Given the description of an element on the screen output the (x, y) to click on. 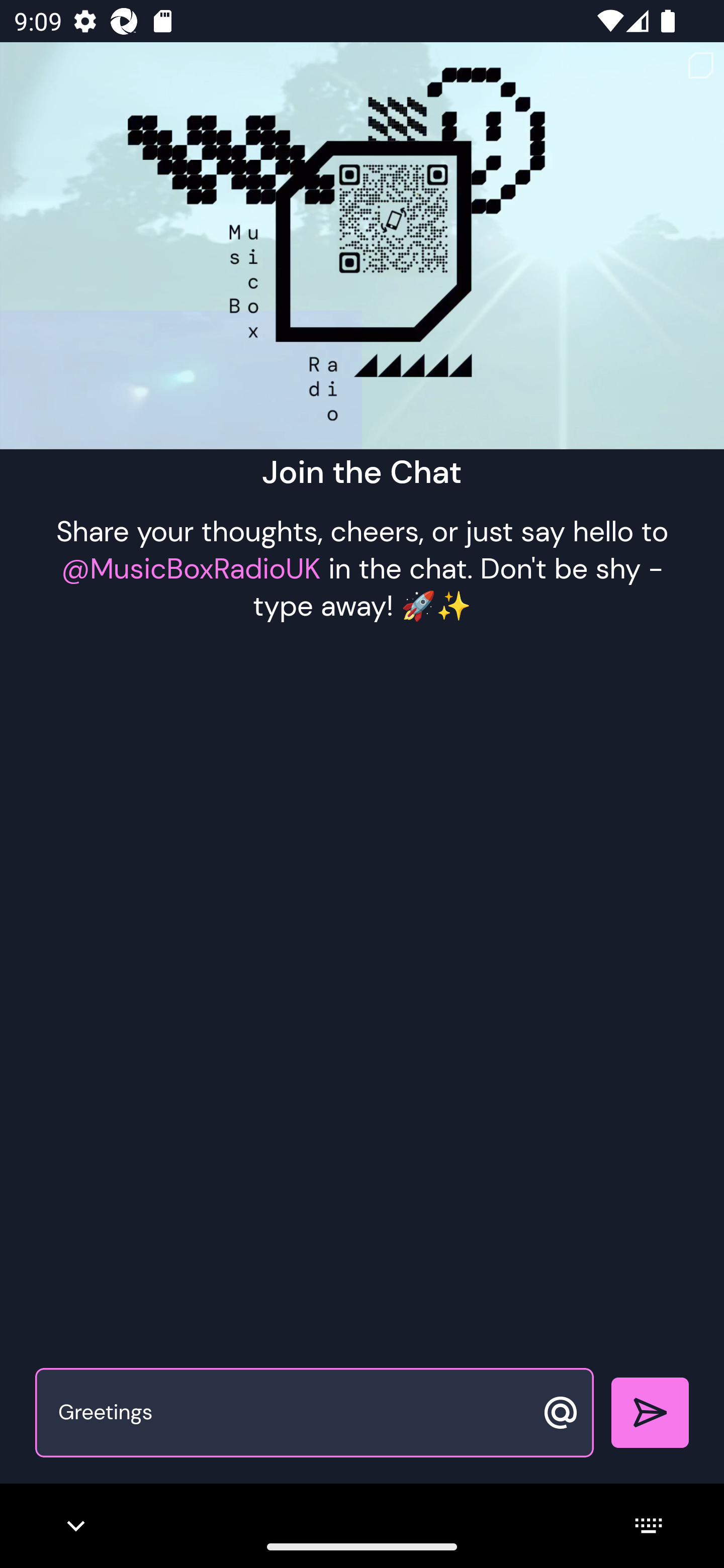
Greetings (292, 1413)
